Given the description of an element on the screen output the (x, y) to click on. 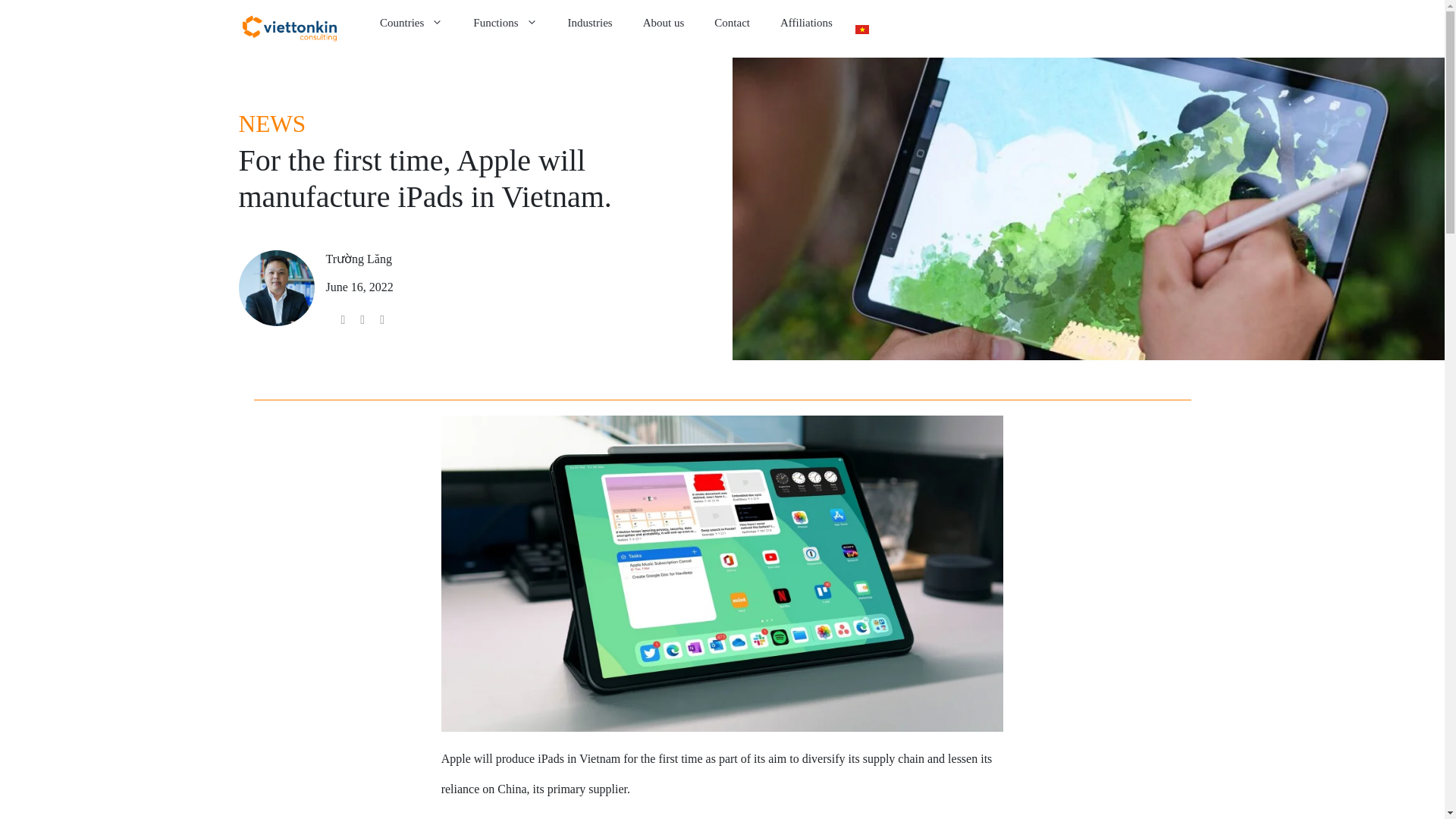
Viettonkin (292, 28)
Countries (411, 22)
Viettonkin (288, 28)
Contact (731, 22)
About us (663, 22)
Industries (590, 22)
Functions (504, 22)
Affiliations (806, 22)
